Given the description of an element on the screen output the (x, y) to click on. 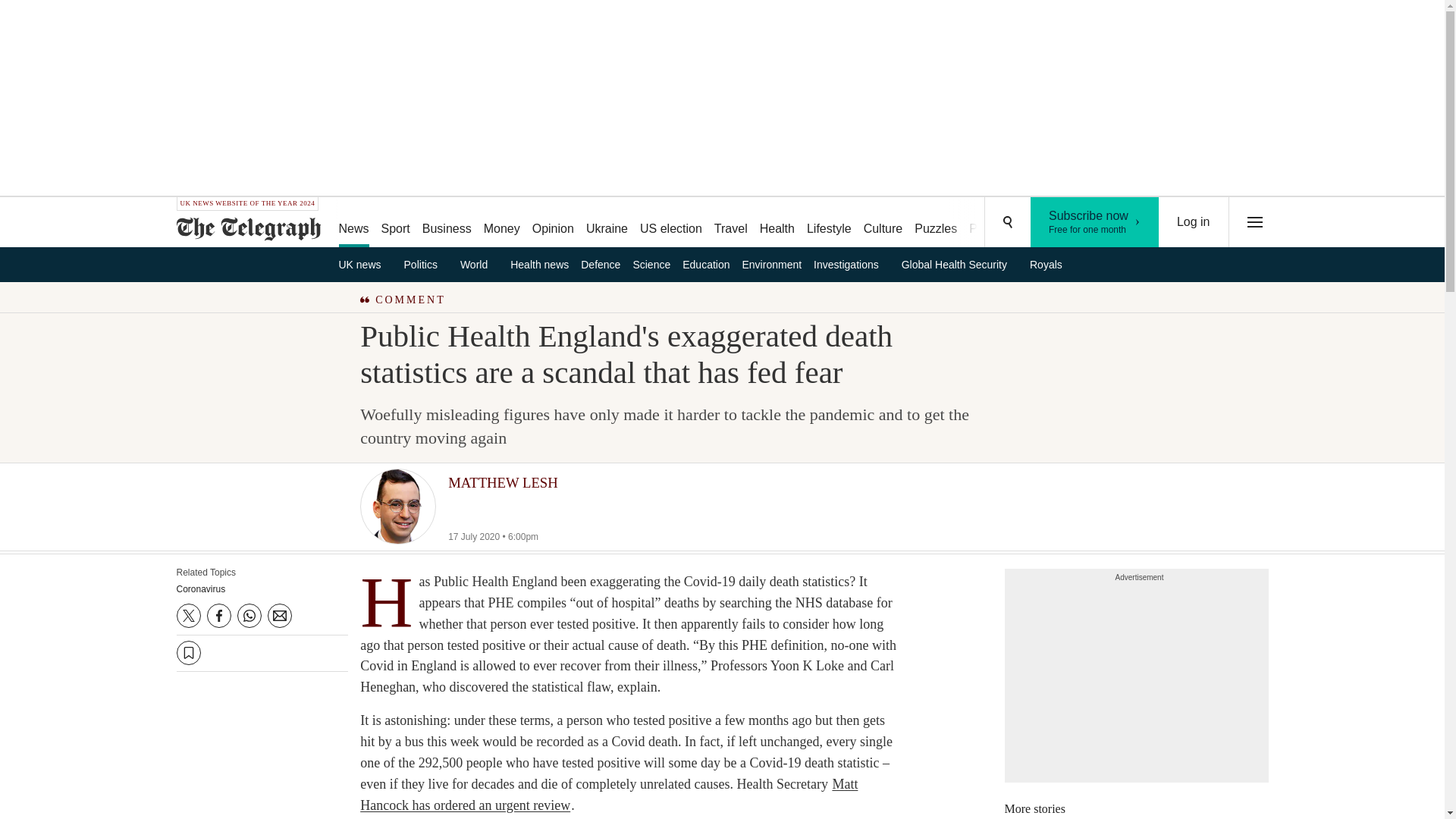
Log in (1193, 222)
Business (446, 223)
UK news (364, 264)
Culture (882, 223)
Money (501, 223)
World (478, 264)
US election (670, 223)
Travel (1094, 222)
Politics (730, 223)
